Given the description of an element on the screen output the (x, y) to click on. 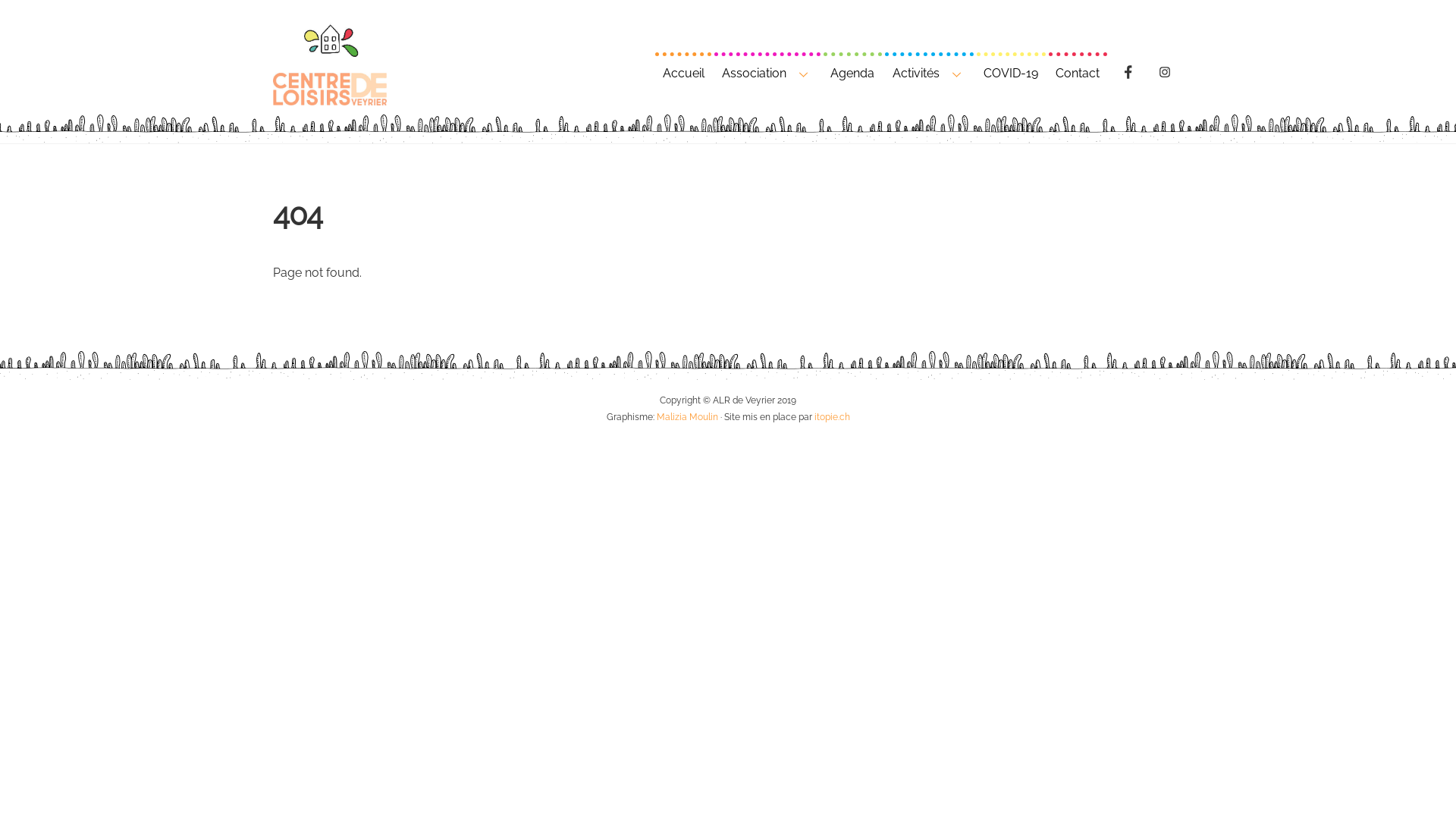
Logo CL Veyrier Element type: hover (329, 64)
COVID-19 Element type: text (1010, 71)
Association Element type: text (767, 71)
Agenda Element type: text (852, 71)
itopie.ch Element type: text (832, 416)
Centre de loisirs de Veyrier Element type: hover (329, 97)
Contact Element type: text (1077, 71)
Accueil Element type: text (683, 71)
Malizia Moulin Element type: text (687, 416)
